Given the description of an element on the screen output the (x, y) to click on. 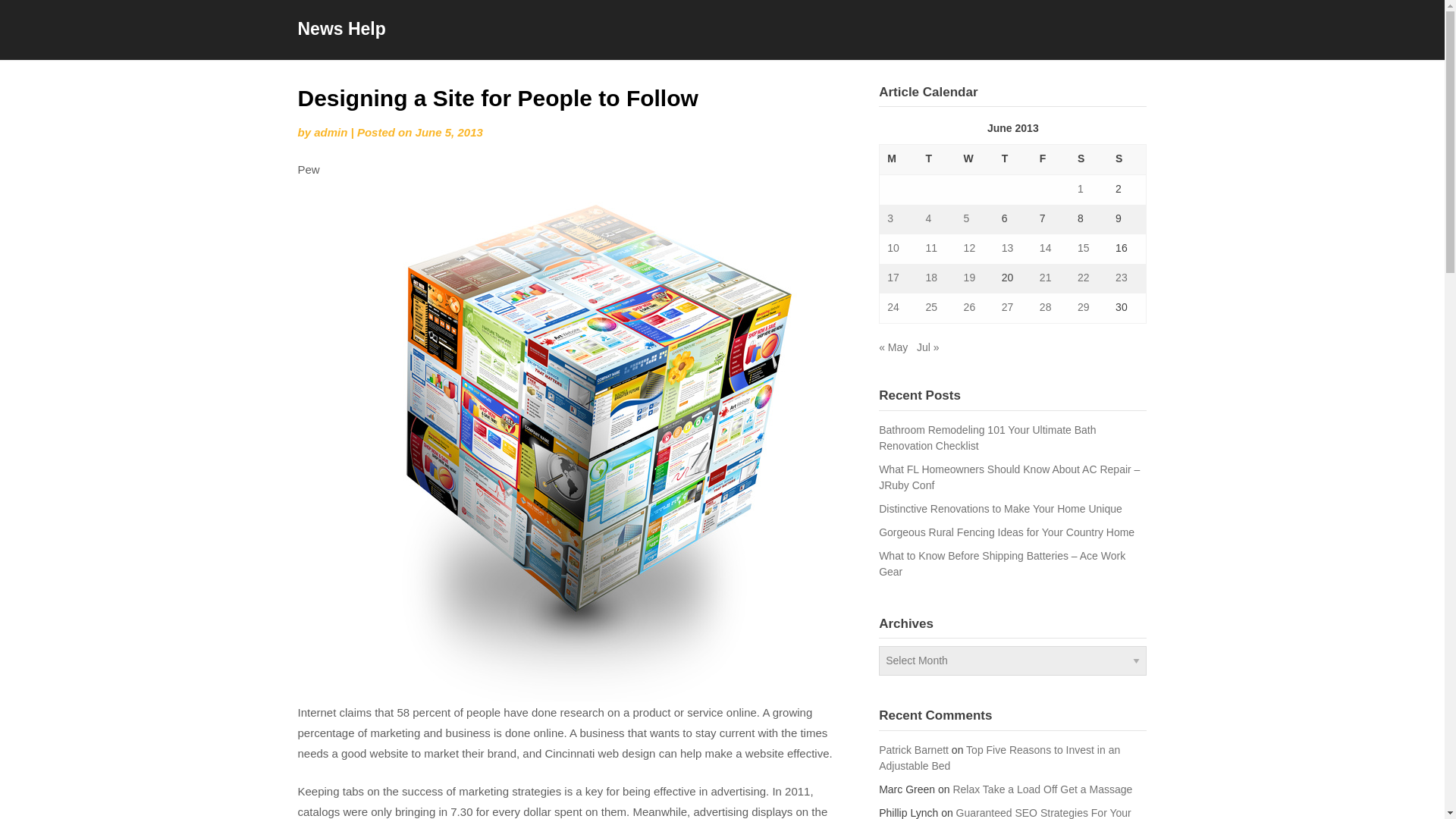
3 (889, 218)
4 (927, 218)
admin (330, 132)
14 (1045, 247)
Friday (1051, 159)
17 (892, 277)
Wednesday (975, 159)
10 (892, 247)
Monday (898, 159)
Tuesday (936, 159)
13 (1007, 247)
15 (1083, 247)
June 5, 2013 (448, 132)
12 (969, 247)
11 (930, 247)
